Given the description of an element on the screen output the (x, y) to click on. 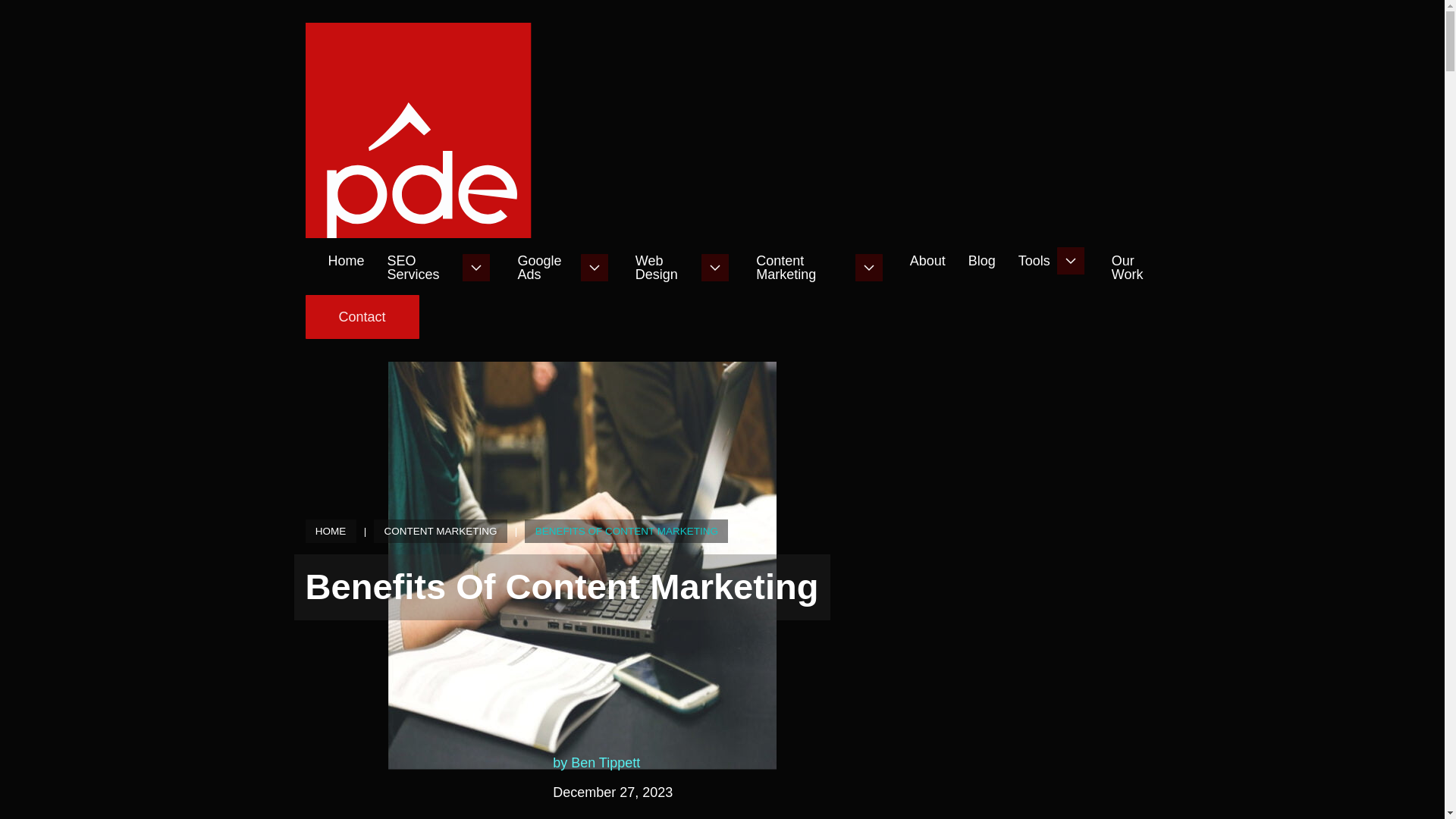
Google Ads (544, 267)
Content Marketing (801, 267)
Home (345, 260)
SEO Services (422, 267)
Tools (1033, 260)
About (927, 260)
Web Design (664, 267)
Our Work (1136, 267)
Blog (981, 260)
